Given the description of an element on the screen output the (x, y) to click on. 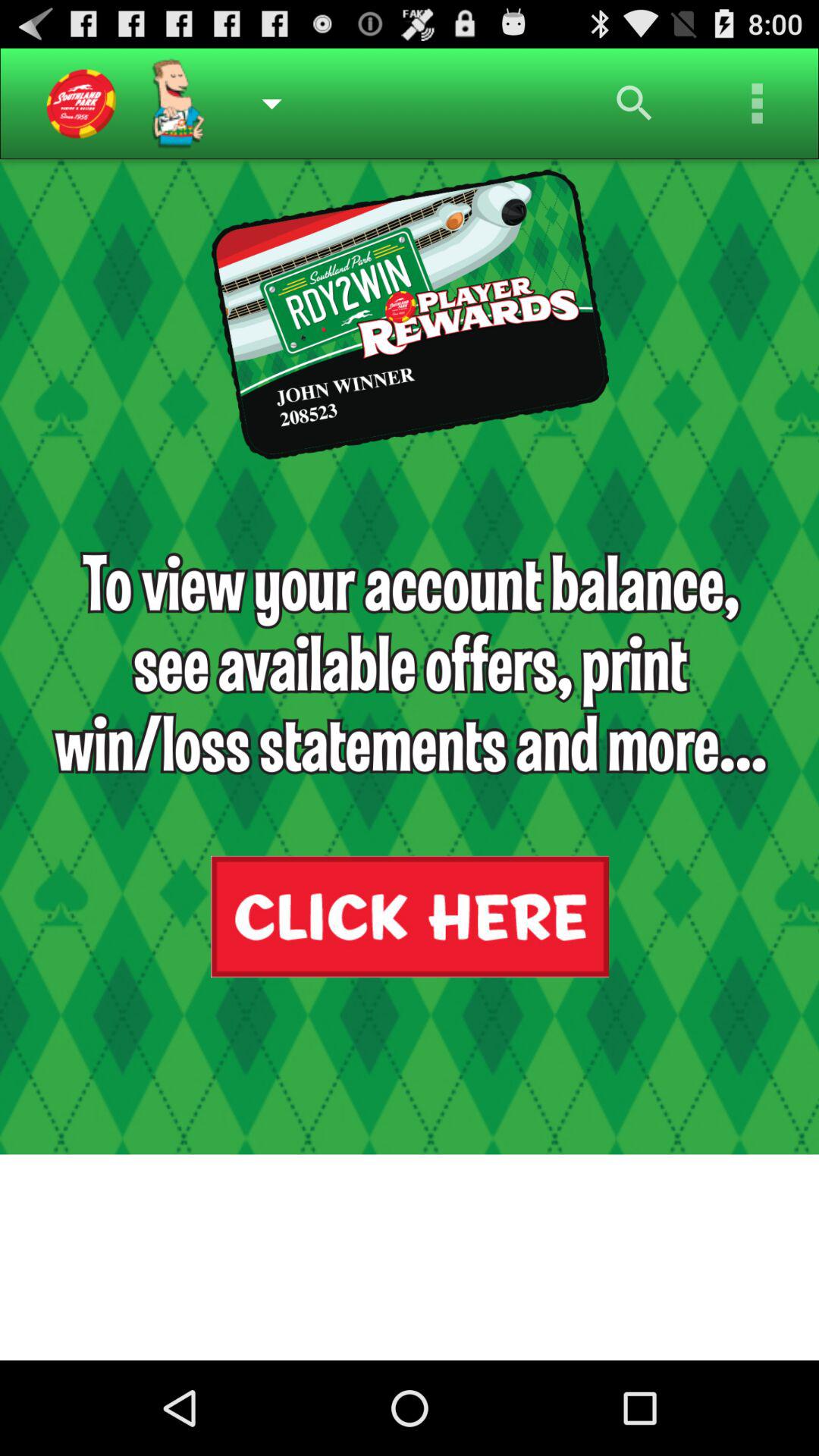
the button is used to share the article to others (757, 103)
